Given the description of an element on the screen output the (x, y) to click on. 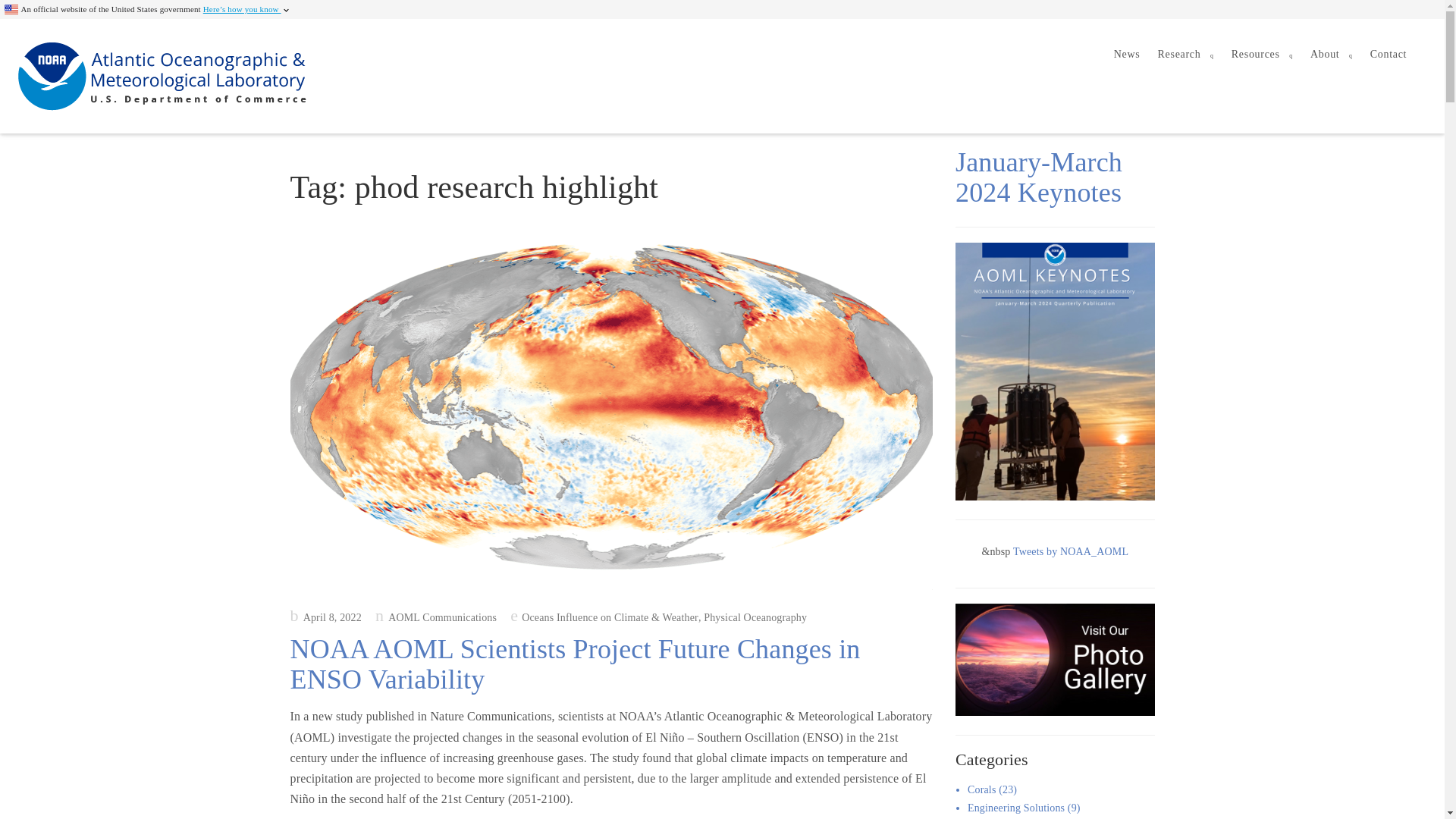
News (1126, 54)
AOML Communications (435, 617)
April 8, 2022 (325, 617)
Contact (1388, 54)
About (1331, 54)
Research (1185, 54)
Physical Oceanography (754, 617)
Resources (1262, 54)
